Given the description of an element on the screen output the (x, y) to click on. 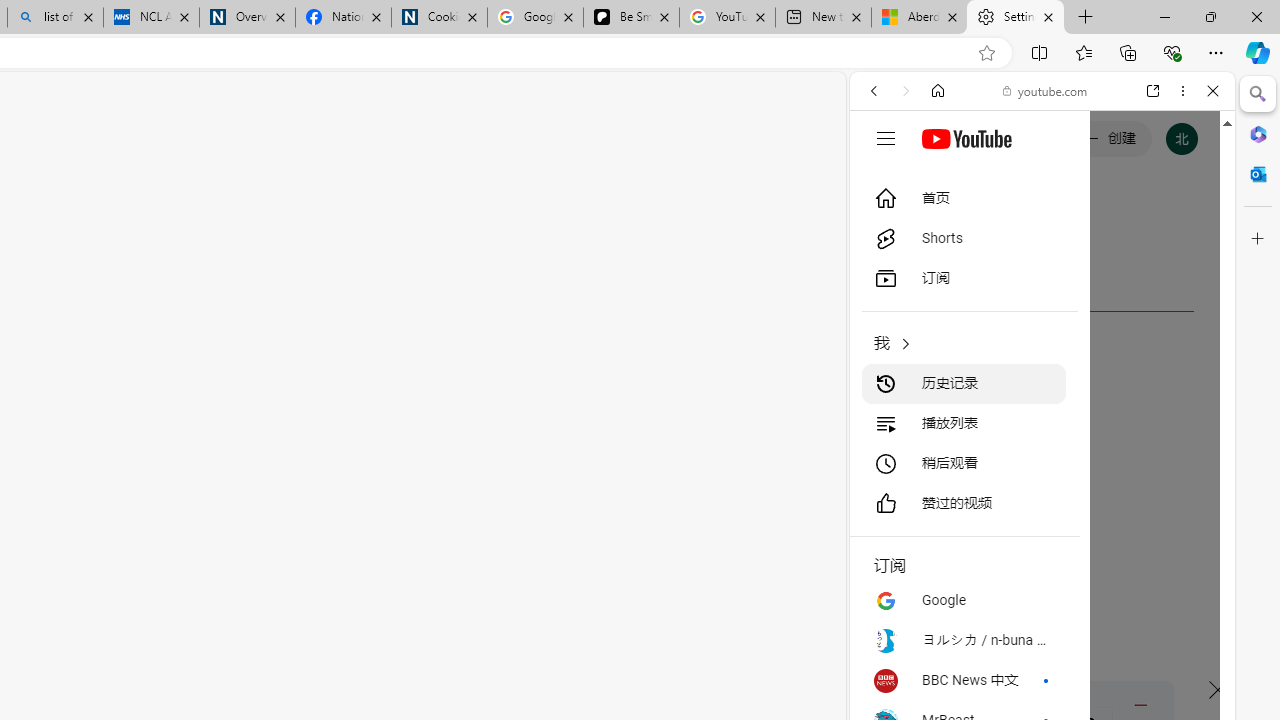
Cookies (439, 17)
